Given the description of an element on the screen output the (x, y) to click on. 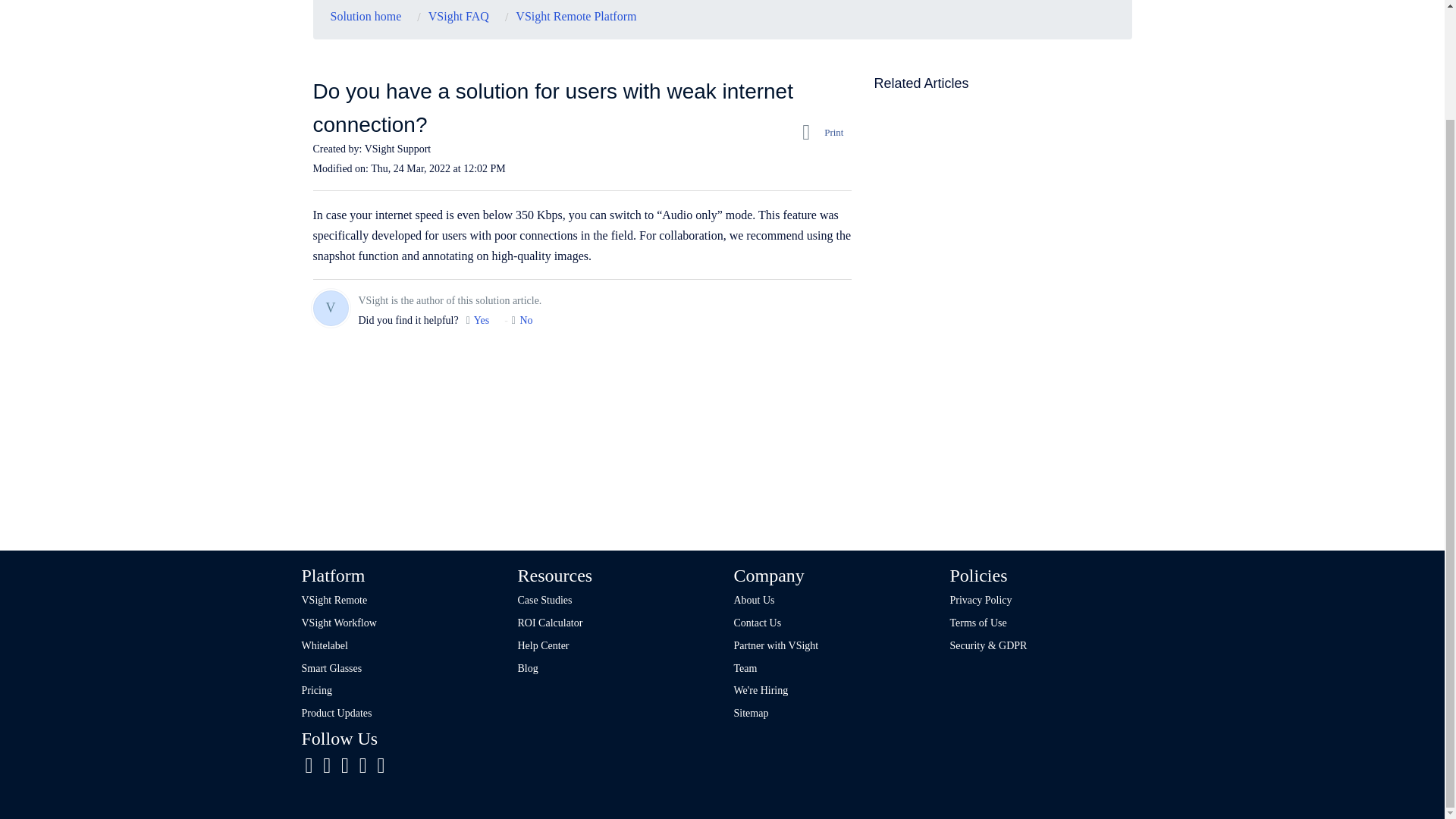
About Us (753, 600)
Partner with VSight (775, 645)
Contact Us (757, 622)
ROI Calculator (549, 622)
We're Hiring (761, 690)
Solution home (365, 16)
Case Studies (544, 600)
Blog (538, 668)
Sitemap (750, 713)
VSight FAQ (453, 16)
